Given the description of an element on the screen output the (x, y) to click on. 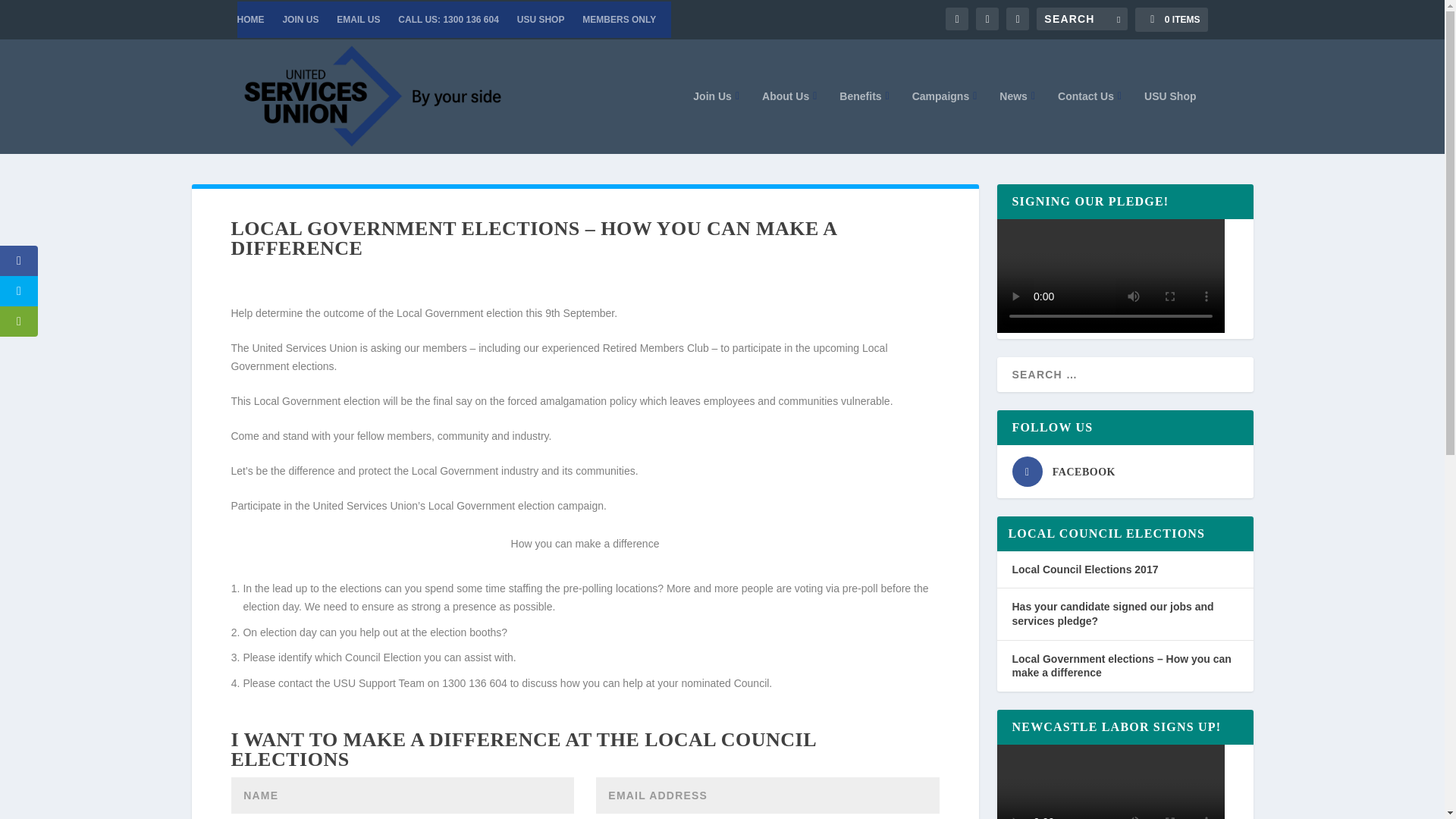
MEMBERS ONLY (619, 19)
USU SHOP (540, 19)
0 Items in Cart (1171, 19)
JOIN US (300, 19)
0 ITEMS (1171, 19)
CALL US: 1300 136 604 (448, 19)
Search for: (1081, 18)
EMAIL US (358, 19)
